Given the description of an element on the screen output the (x, y) to click on. 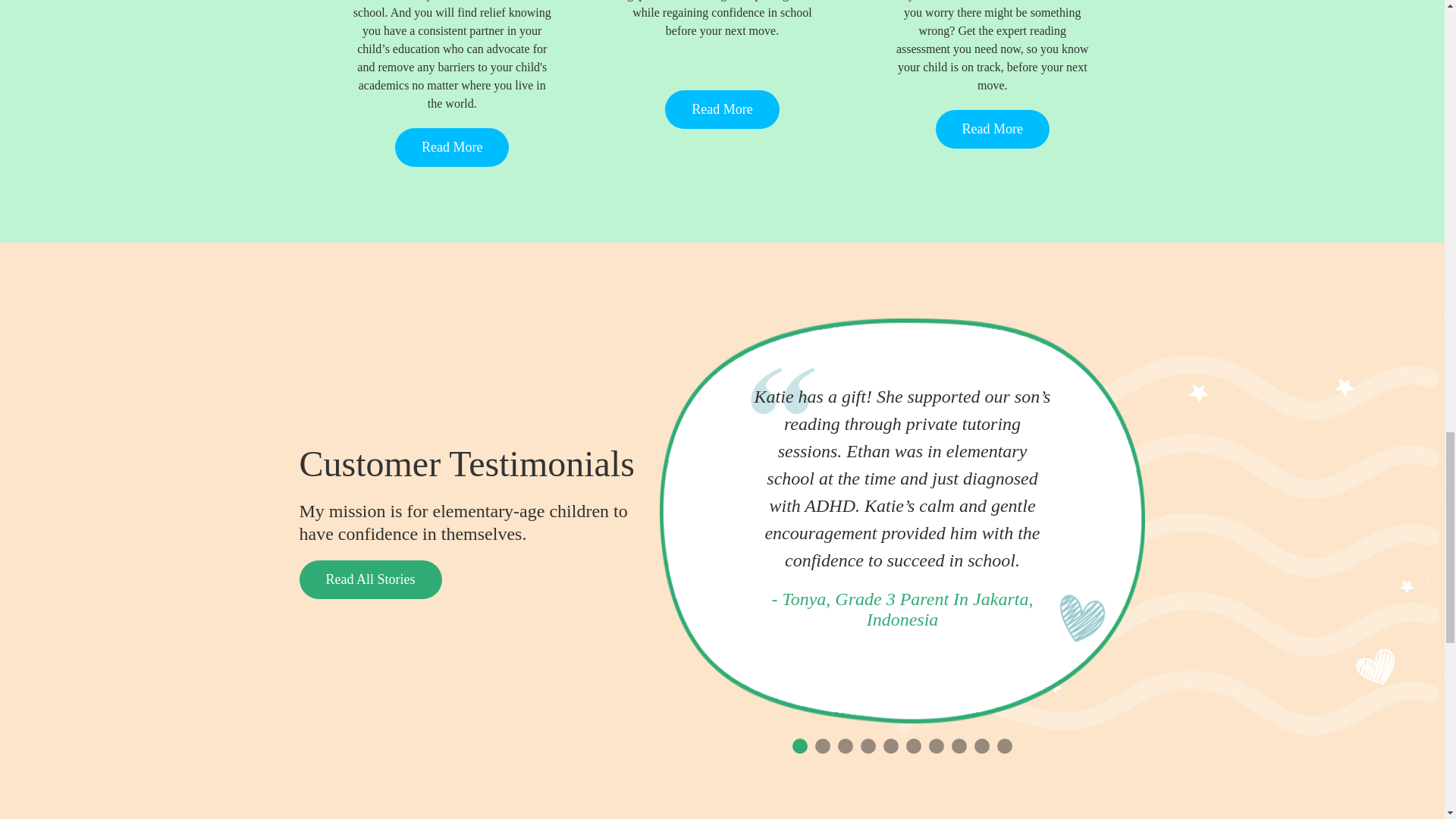
Read More (451, 146)
Read More (721, 108)
Read More (992, 128)
Read All Stories (369, 578)
